Given the description of an element on the screen output the (x, y) to click on. 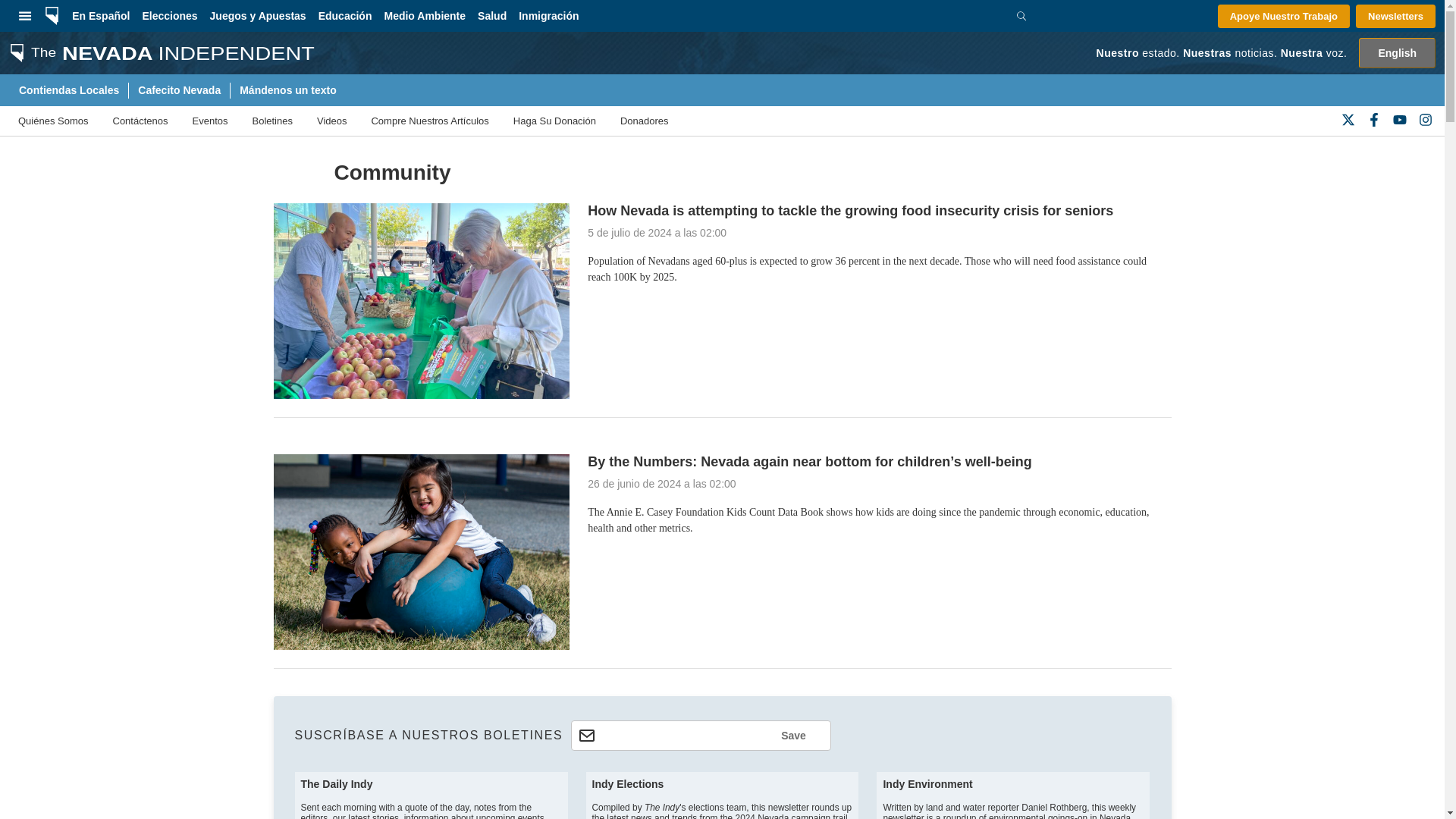
Contiendas Locales (68, 90)
Juegos y Apuestas (258, 15)
Cafecito Nevada (179, 90)
Elecciones (169, 15)
Eventos (210, 120)
Salud (491, 15)
Newsletters (1395, 15)
English (1396, 52)
The NEVADA INDEPENDENT (156, 52)
Boletines (271, 120)
Donadores (644, 120)
Medio Ambiente (424, 15)
Apoye Nuestro Trabajo (1283, 15)
